Given the description of an element on the screen output the (x, y) to click on. 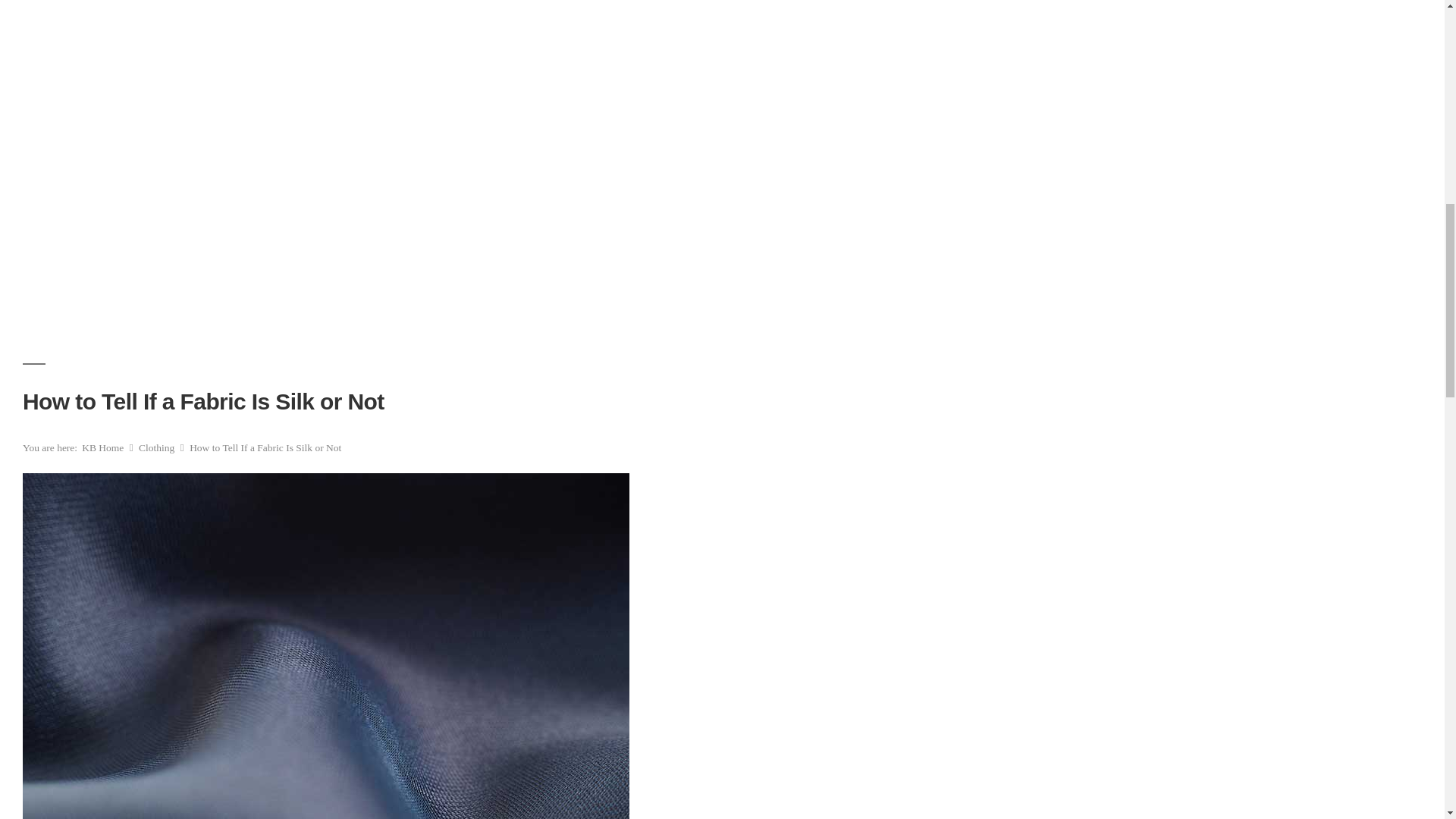
KB Home (103, 447)
Clothing (157, 447)
